Given the description of an element on the screen output the (x, y) to click on. 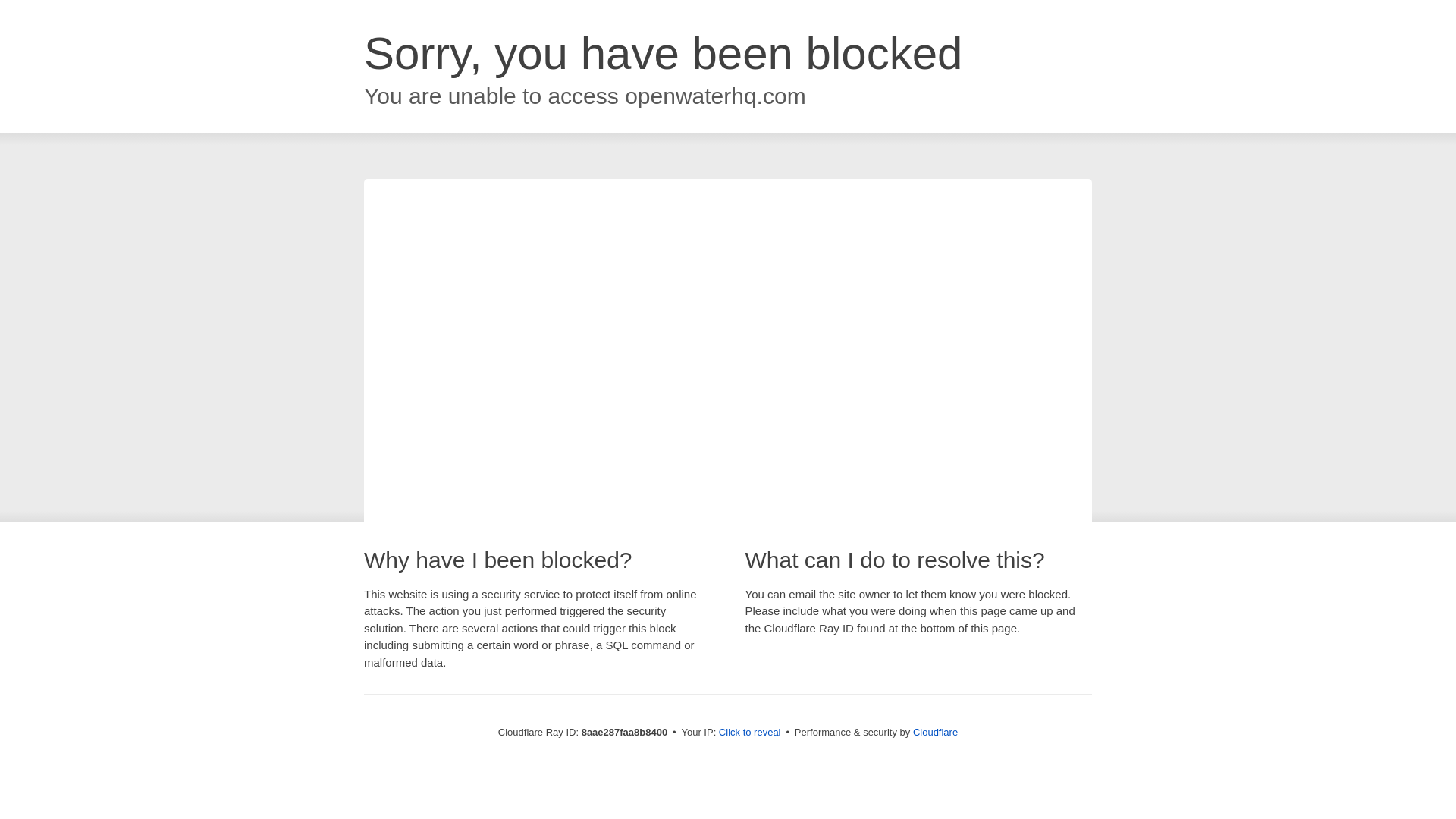
Cloudflare (935, 731)
Click to reveal (749, 732)
